Given the description of an element on the screen output the (x, y) to click on. 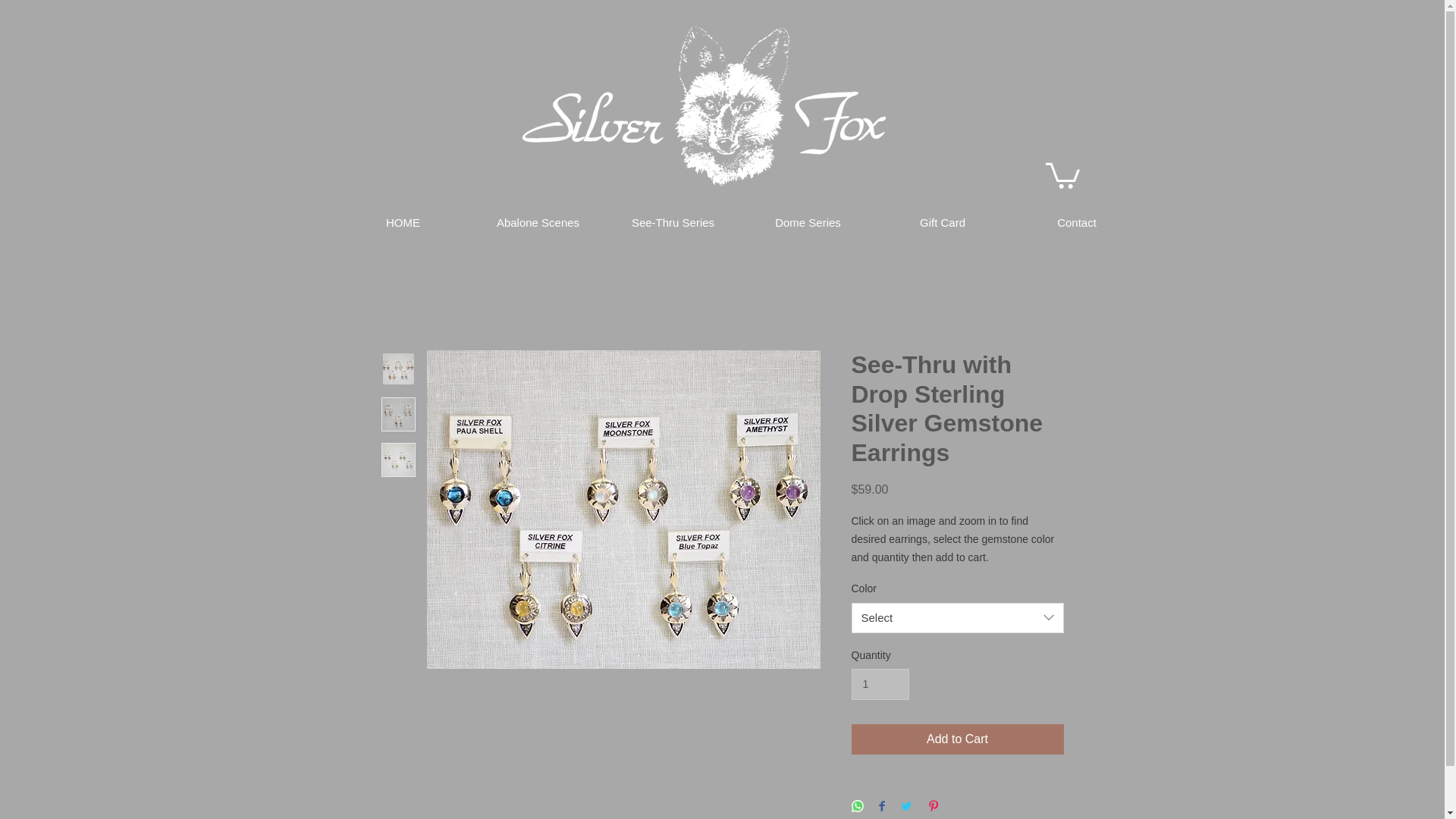
Gift Card (942, 222)
Select (956, 617)
See-Thru Series (672, 222)
Contact (1077, 222)
Dome Series (807, 222)
1 (879, 684)
Abalone Scenes (537, 222)
Add to Cart (956, 738)
HOME (402, 222)
